Given the description of an element on the screen output the (x, y) to click on. 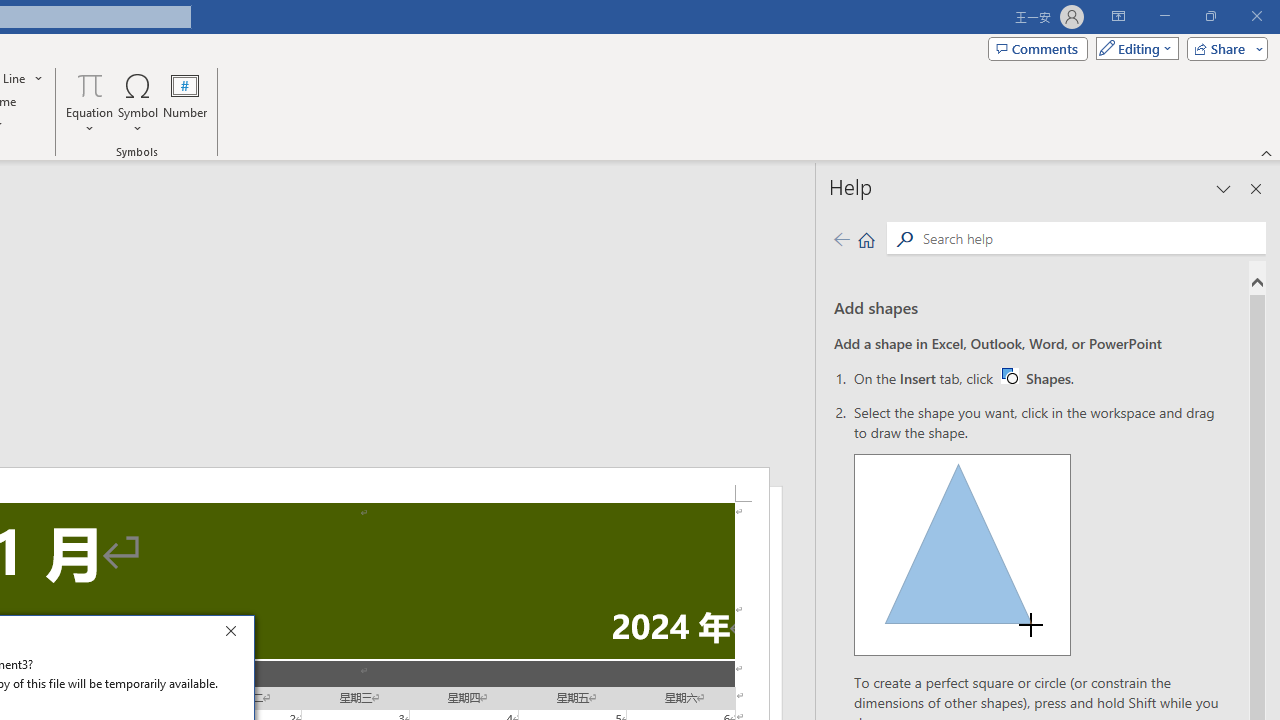
Equation (90, 84)
Close pane (1256, 188)
Number... (185, 102)
Symbol (138, 102)
Drawing a shape (962, 554)
